Given the description of an element on the screen output the (x, y) to click on. 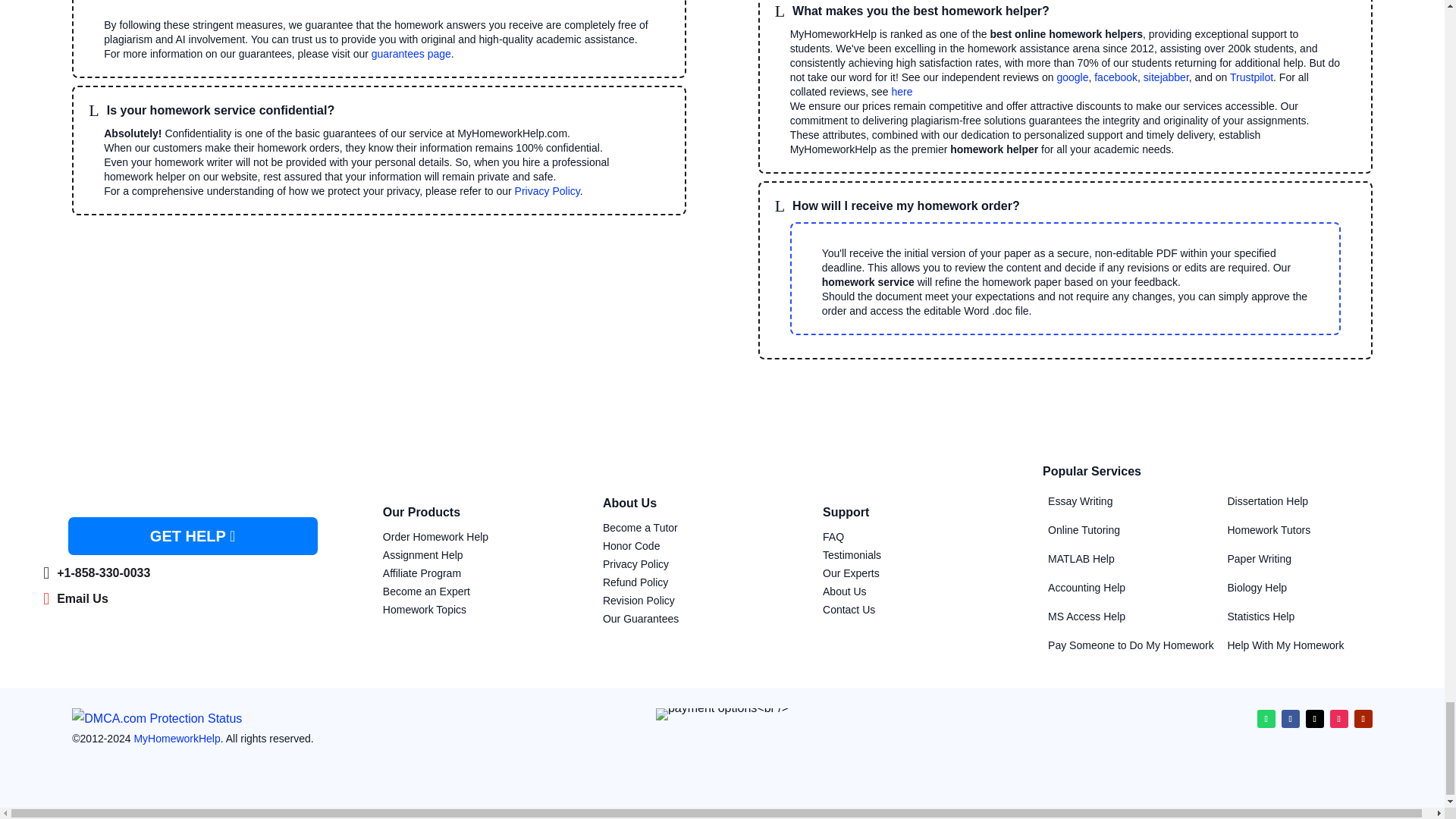
FAQ (833, 536)
